Given the description of an element on the screen output the (x, y) to click on. 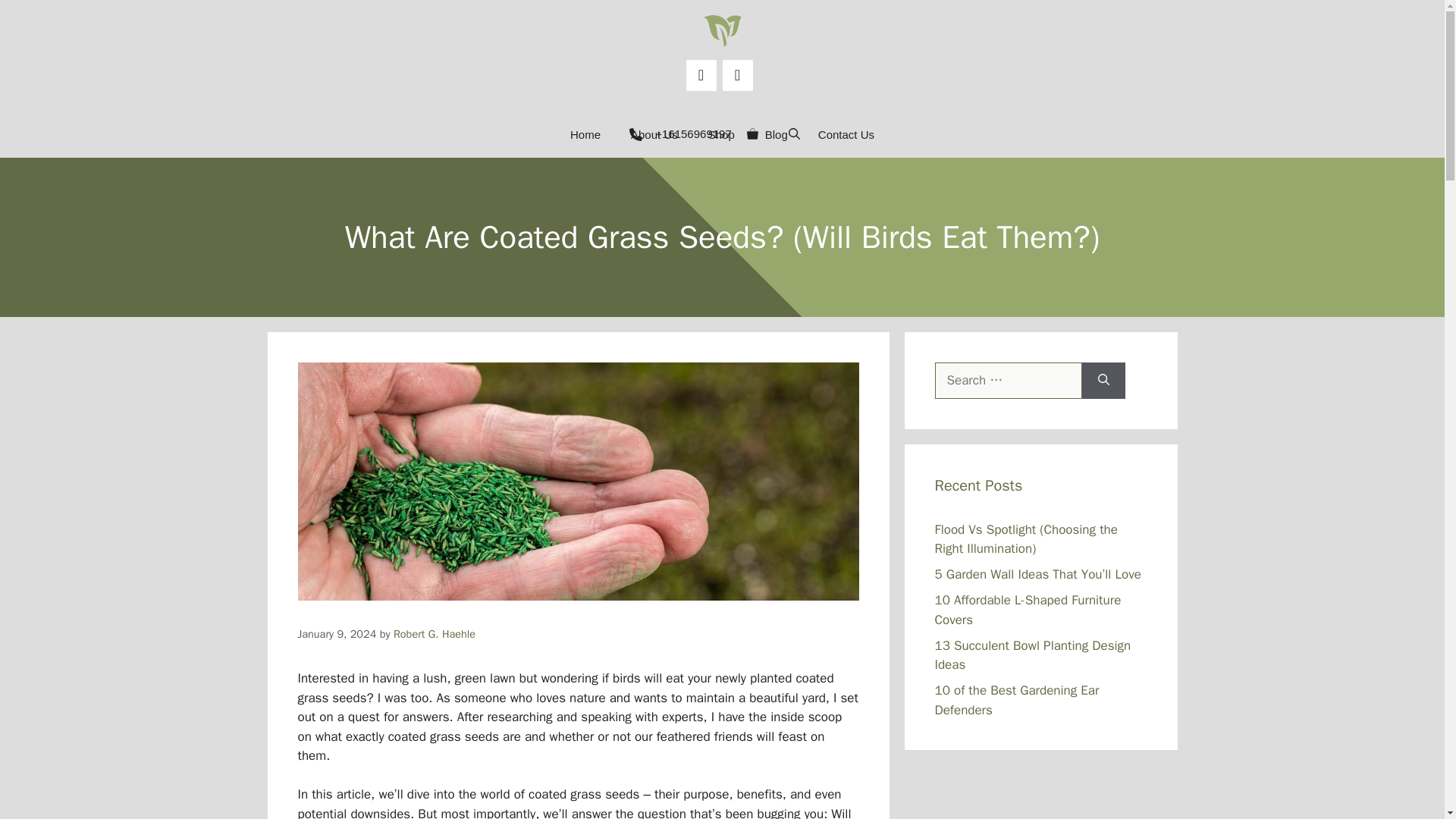
Shop (721, 135)
About Us (654, 135)
Blog (776, 135)
10 of the Best Gardening Ear Defenders (1016, 700)
Facebook (700, 74)
10 Affordable L-Shaped Furniture Covers (1027, 610)
View your shopping cart (752, 135)
Instagram (737, 74)
13 Succulent Bowl Planting Design Ideas (1032, 654)
View all posts by Robert G. Haehle (434, 633)
Home (584, 135)
Robert G. Haehle (434, 633)
Search for: (1007, 380)
Contact Us (846, 135)
